Given the description of an element on the screen output the (x, y) to click on. 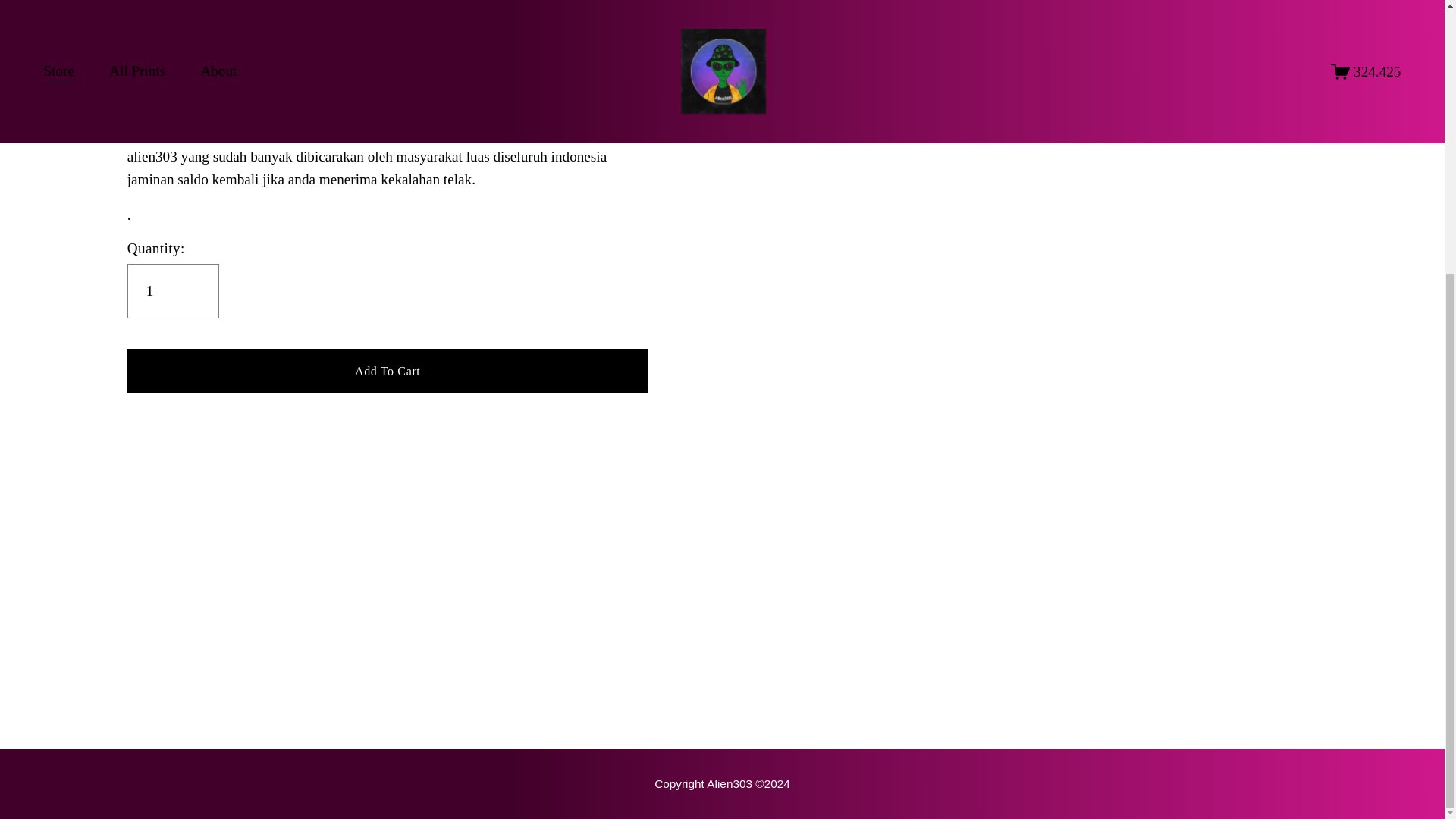
Alien303 (721, 783)
Alien303 (154, 85)
Add To Cart (387, 370)
1 (173, 290)
